Given the description of an element on the screen output the (x, y) to click on. 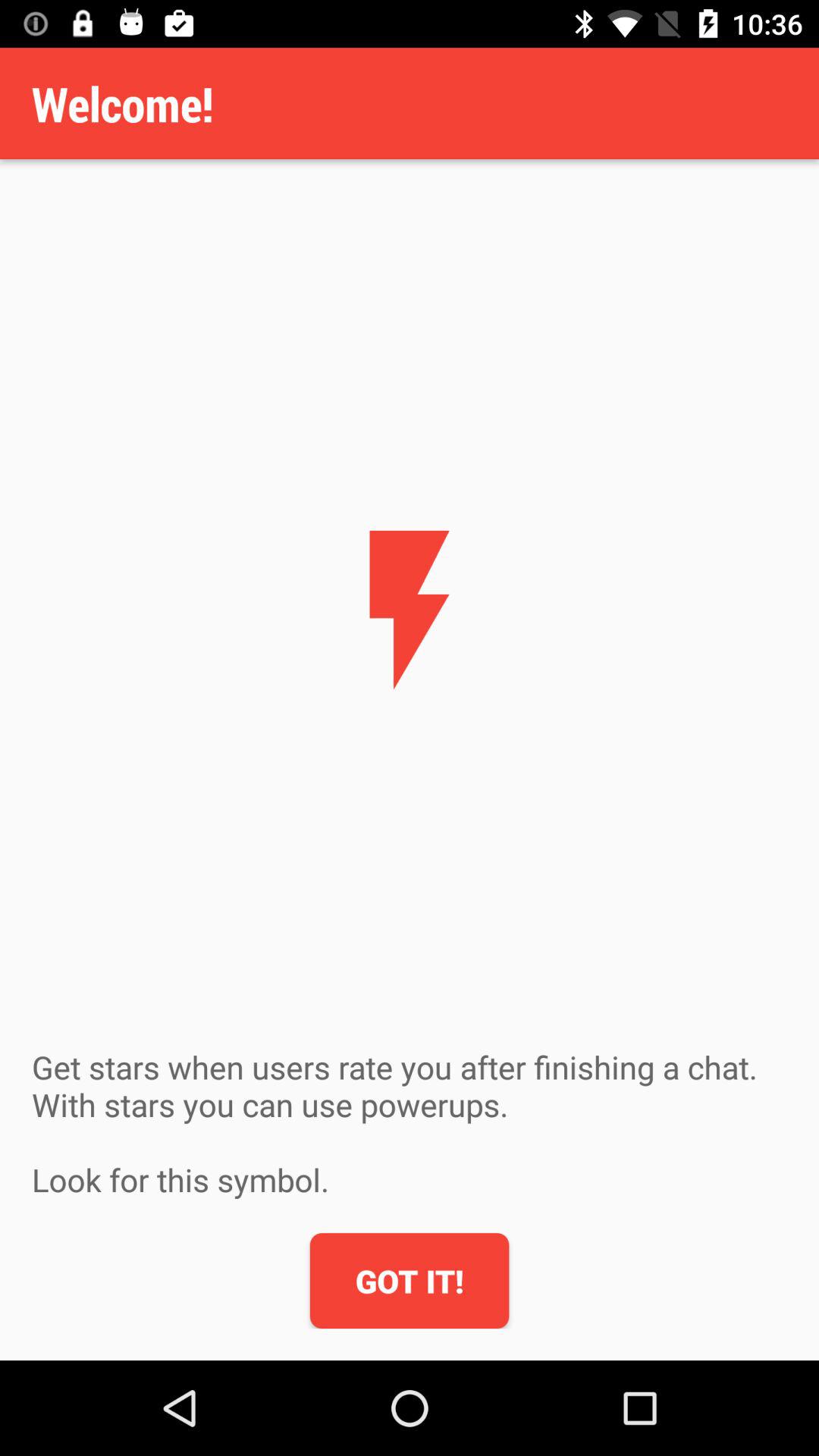
flip until got it! item (409, 1280)
